Given the description of an element on the screen output the (x, y) to click on. 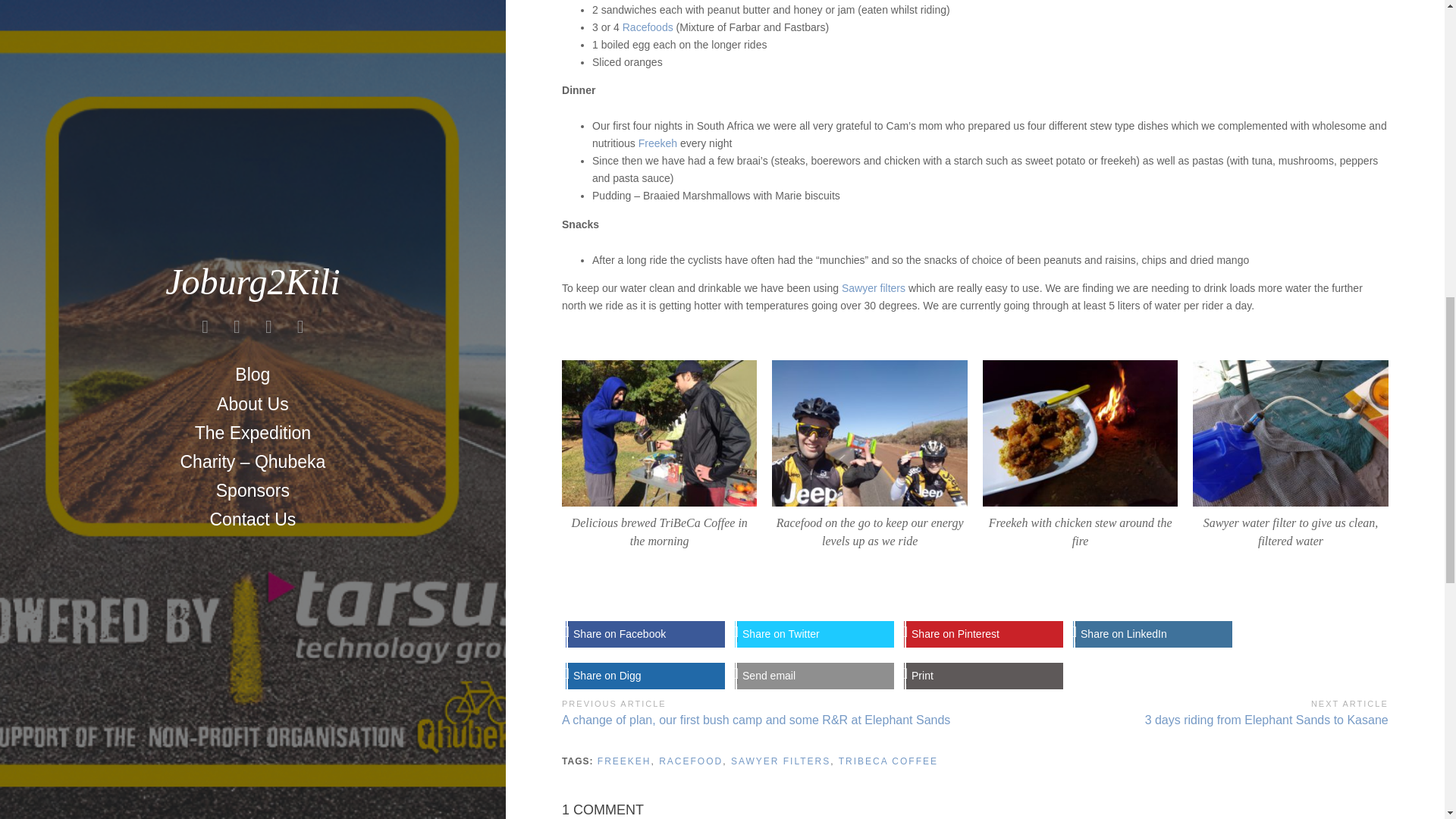
RACEFOOD (690, 760)
Share on Pinterest (983, 633)
Print (983, 675)
Share on Facebook (646, 633)
Share on Twitter (814, 633)
Share on Twitter (814, 633)
FREEKEH (623, 760)
Share it on Email (814, 675)
Share on Digg (646, 675)
Share on LinkedIn (1153, 633)
Freekeh (658, 143)
Sawyer filters (874, 287)
TRIBECA COFFEE (887, 760)
Send email (814, 675)
